Given the description of an element on the screen output the (x, y) to click on. 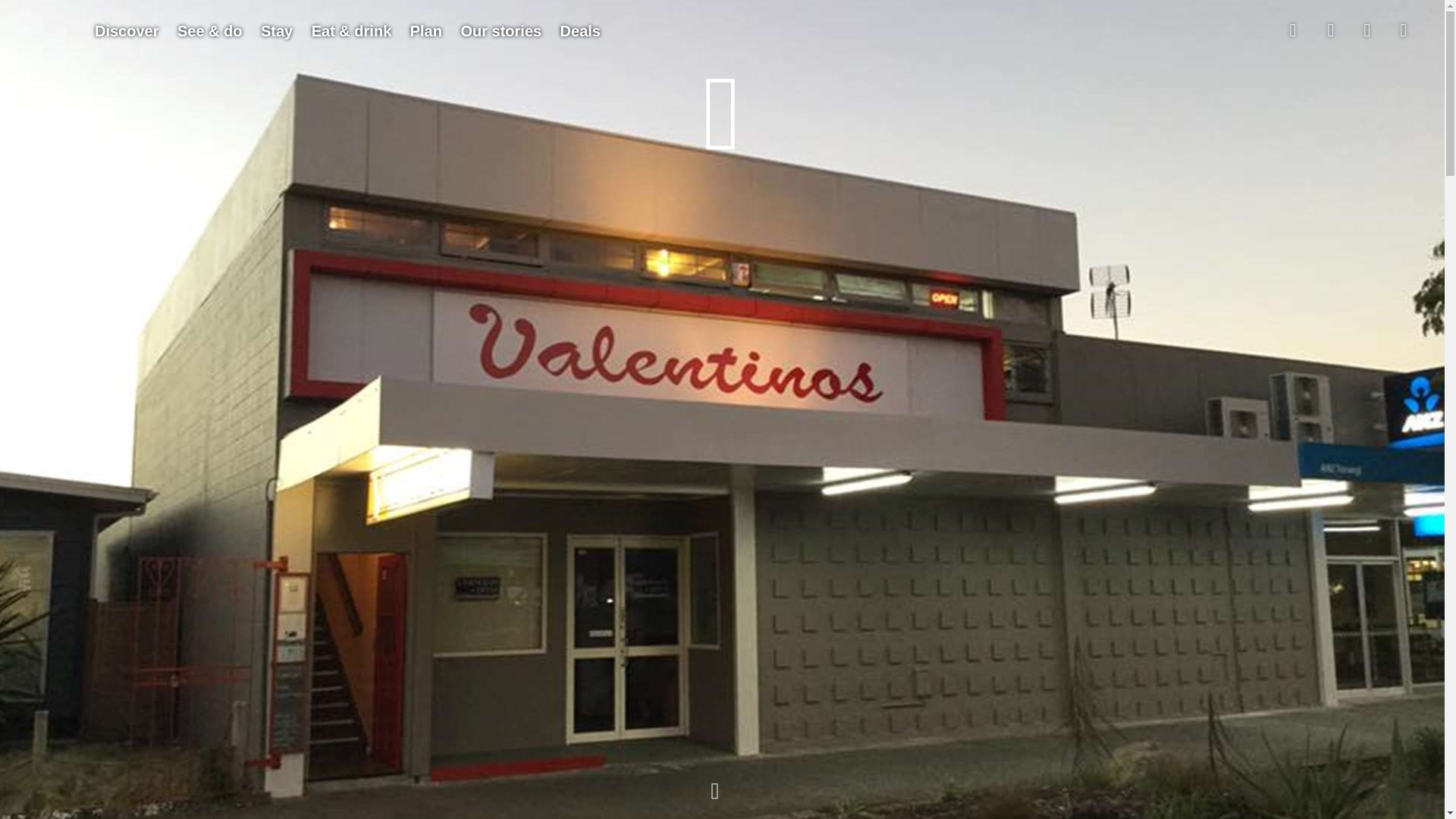
Deals (580, 31)
Plan (426, 31)
Weather (1367, 30)
Webcam (1404, 30)
Search (1331, 30)
Weather (1367, 30)
Discover (127, 31)
Our stories (500, 31)
Webcam (1404, 30)
Stay (276, 31)
